Given the description of an element on the screen output the (x, y) to click on. 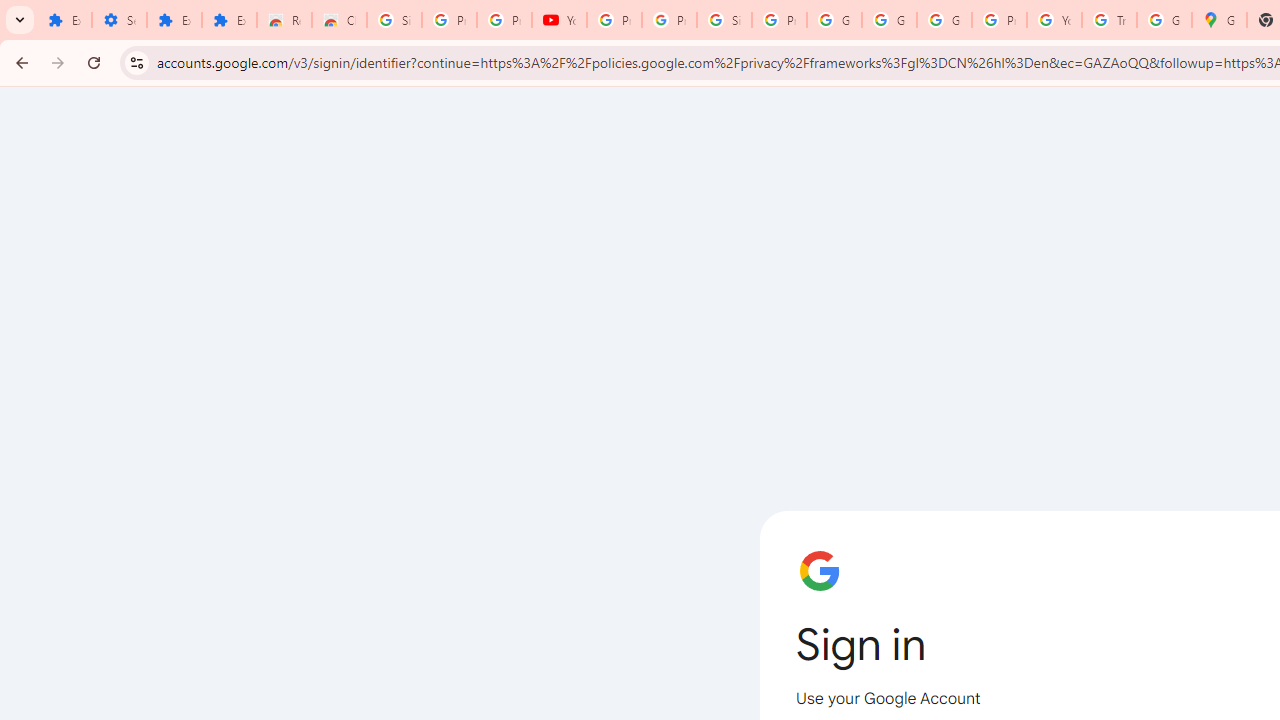
Google Account (888, 20)
YouTube (559, 20)
Google Account (833, 20)
Sign in - Google Accounts (724, 20)
Extensions (64, 20)
Reviews: Helix Fruit Jump Arcade Game (284, 20)
